Given the description of an element on the screen output the (x, y) to click on. 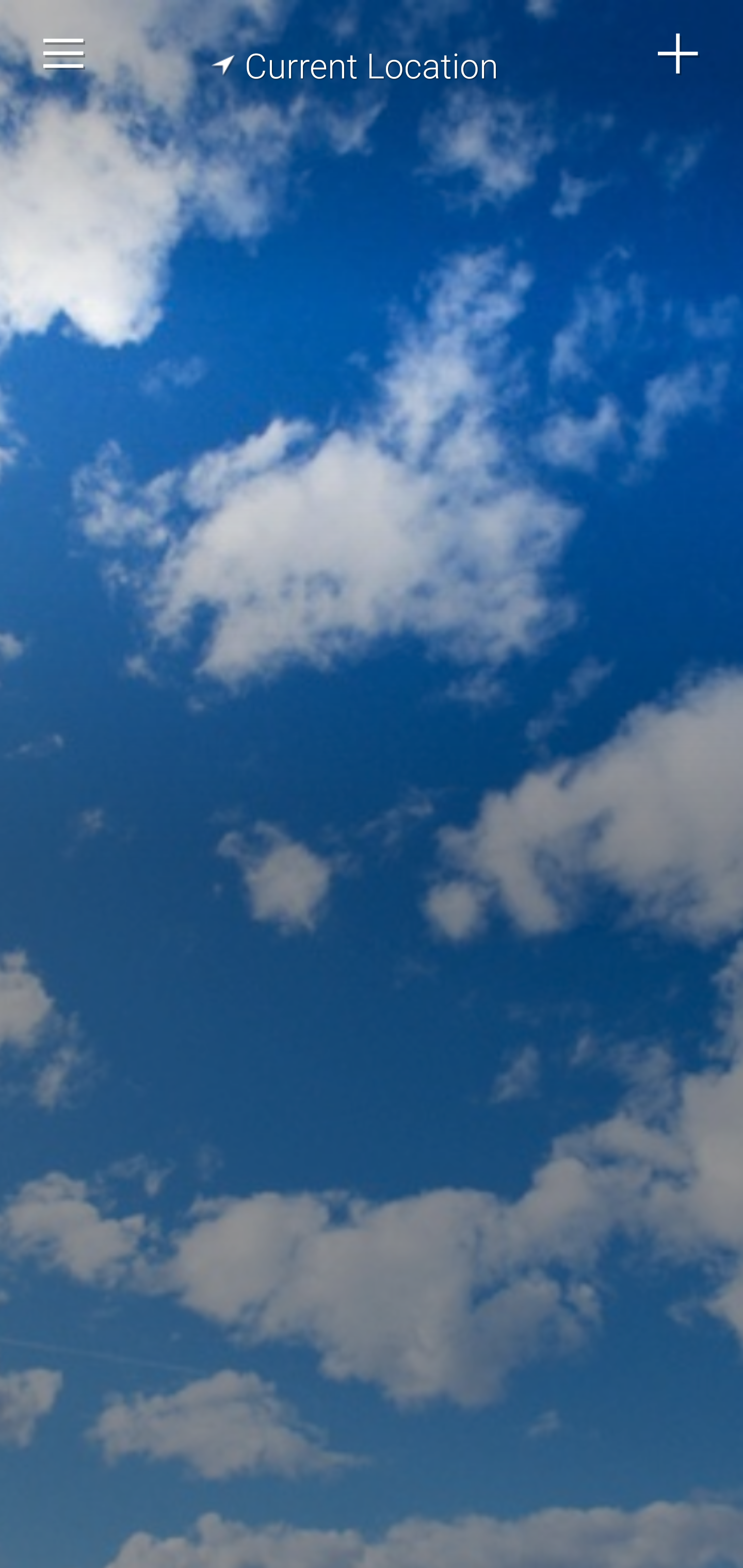
Sidebar (64, 54)
Add City (678, 53)
